Given the description of an element on the screen output the (x, y) to click on. 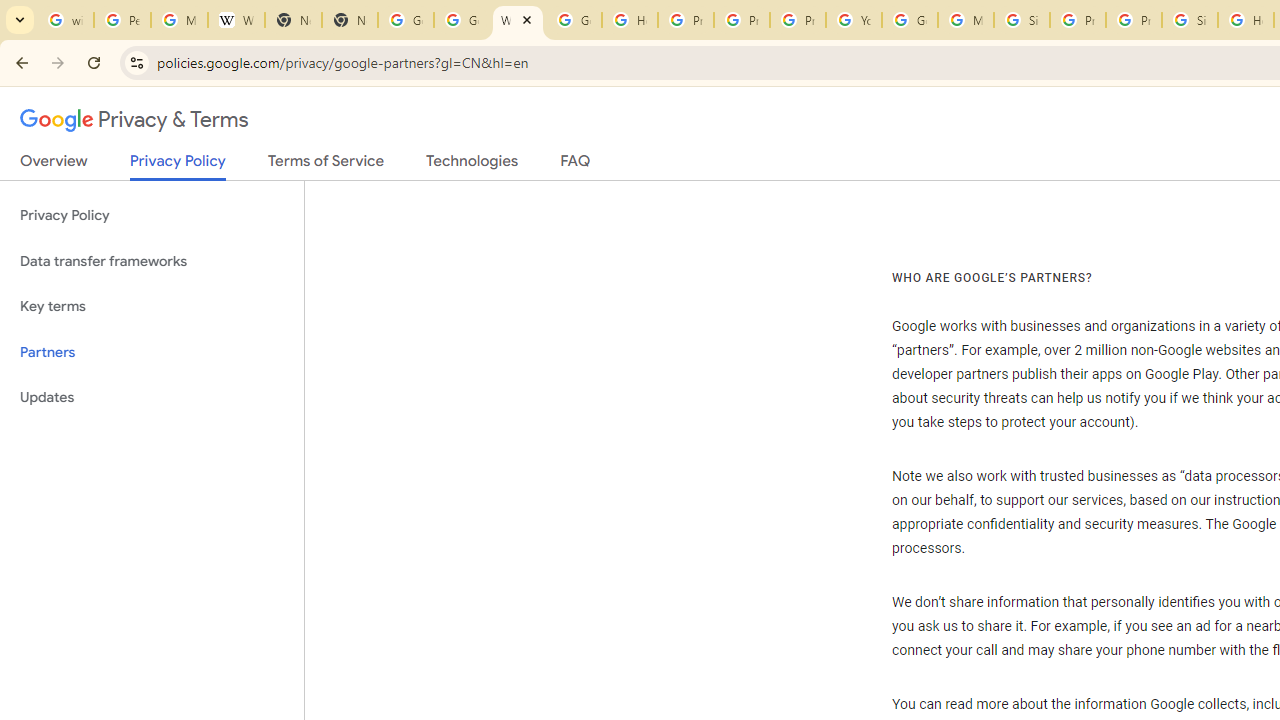
Google Account Help (909, 20)
